Given the description of an element on the screen output the (x, y) to click on. 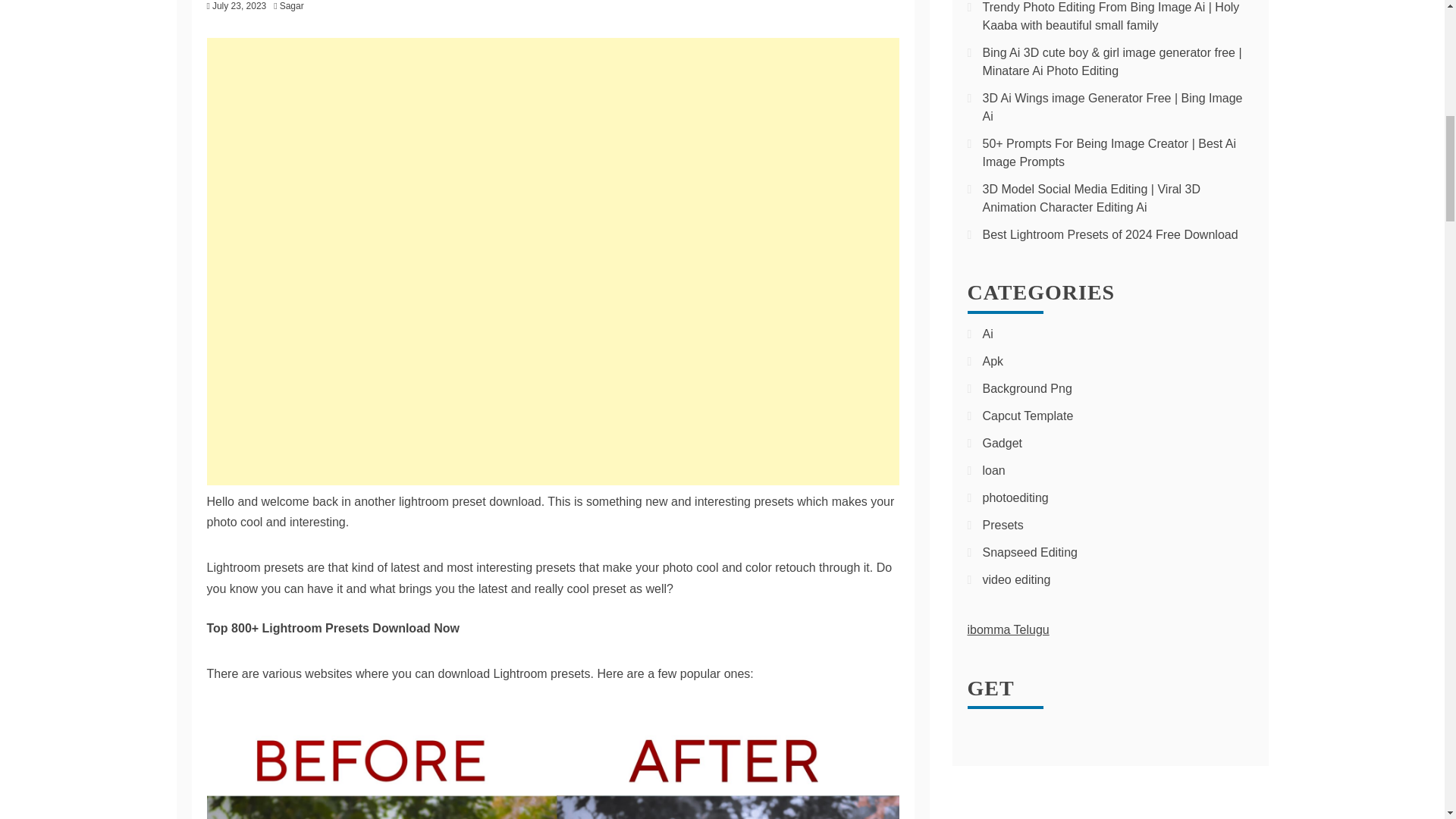
July 23, 2023 (239, 5)
Ibomma Telugu Movie (1008, 629)
Sagar (295, 5)
